Given the description of an element on the screen output the (x, y) to click on. 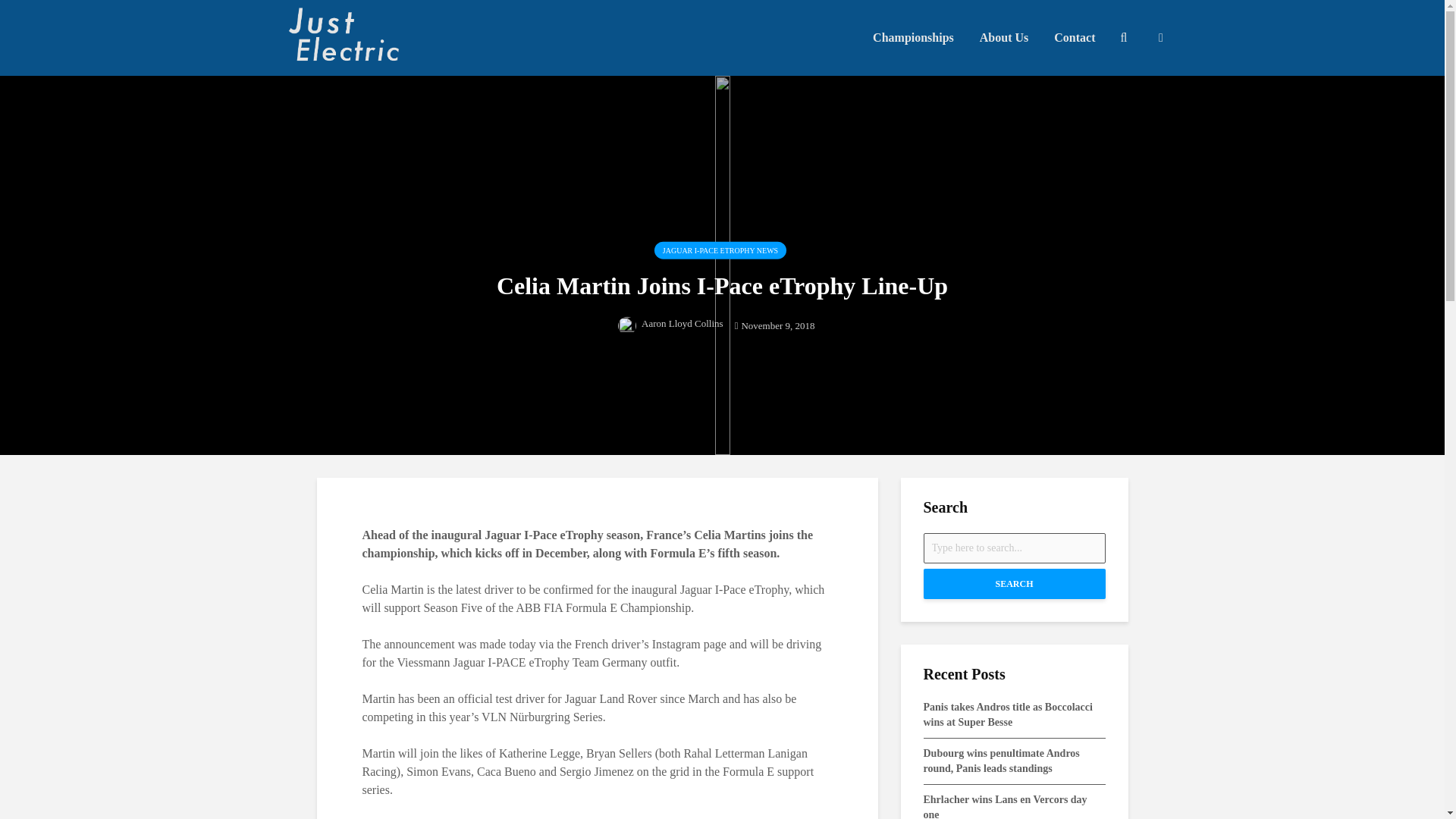
JAGUAR I-PACE ETROPHY NEWS (719, 250)
Contact (1074, 37)
Championships (913, 37)
Aaron Lloyd Collins (669, 322)
About Us (1003, 37)
